Given the description of an element on the screen output the (x, y) to click on. 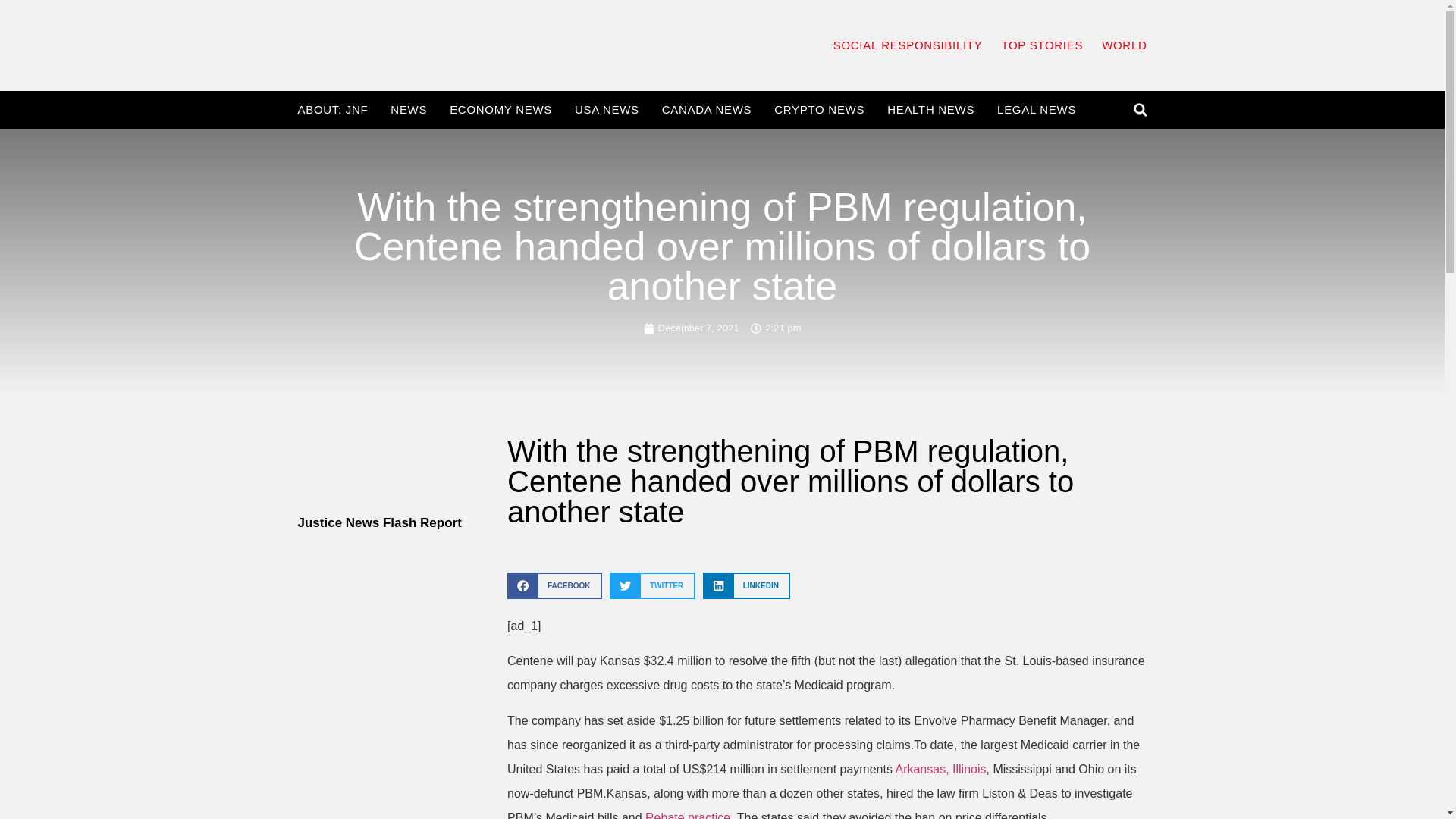
CANADA NEWS (706, 109)
NEWS (407, 109)
USA NEWS (606, 109)
ABOUT: JNF (332, 109)
CRYPTO NEWS (819, 109)
SOCIAL RESPONSIBILITY (907, 45)
WORLD (1124, 45)
LEGAL NEWS (1036, 109)
HEALTH NEWS (930, 109)
Rebate practice (687, 815)
TOP STORIES (1042, 45)
Arkansas, Illinois (940, 768)
ECONOMY NEWS (500, 109)
December 7, 2021 (691, 328)
